Given the description of an element on the screen output the (x, y) to click on. 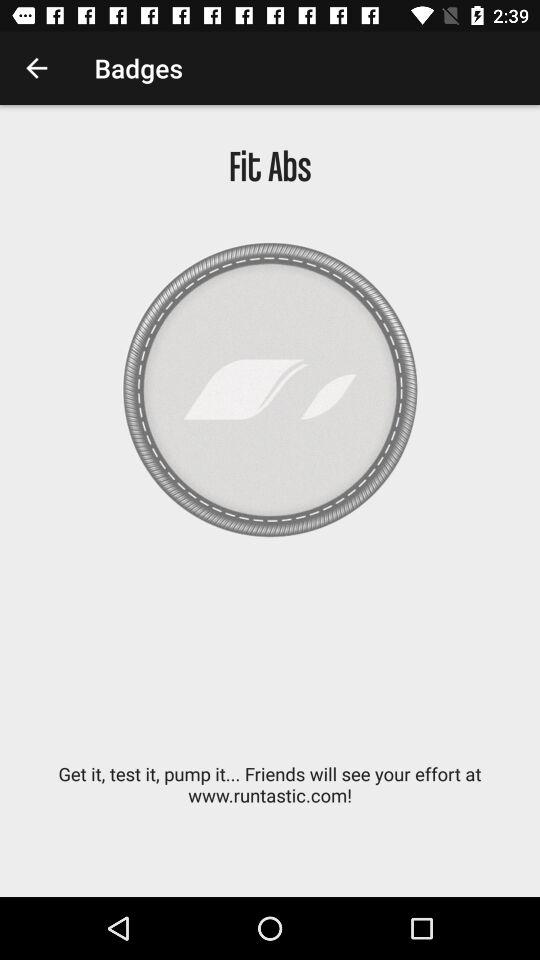
turn on item next to badges (36, 68)
